Given the description of an element on the screen output the (x, y) to click on. 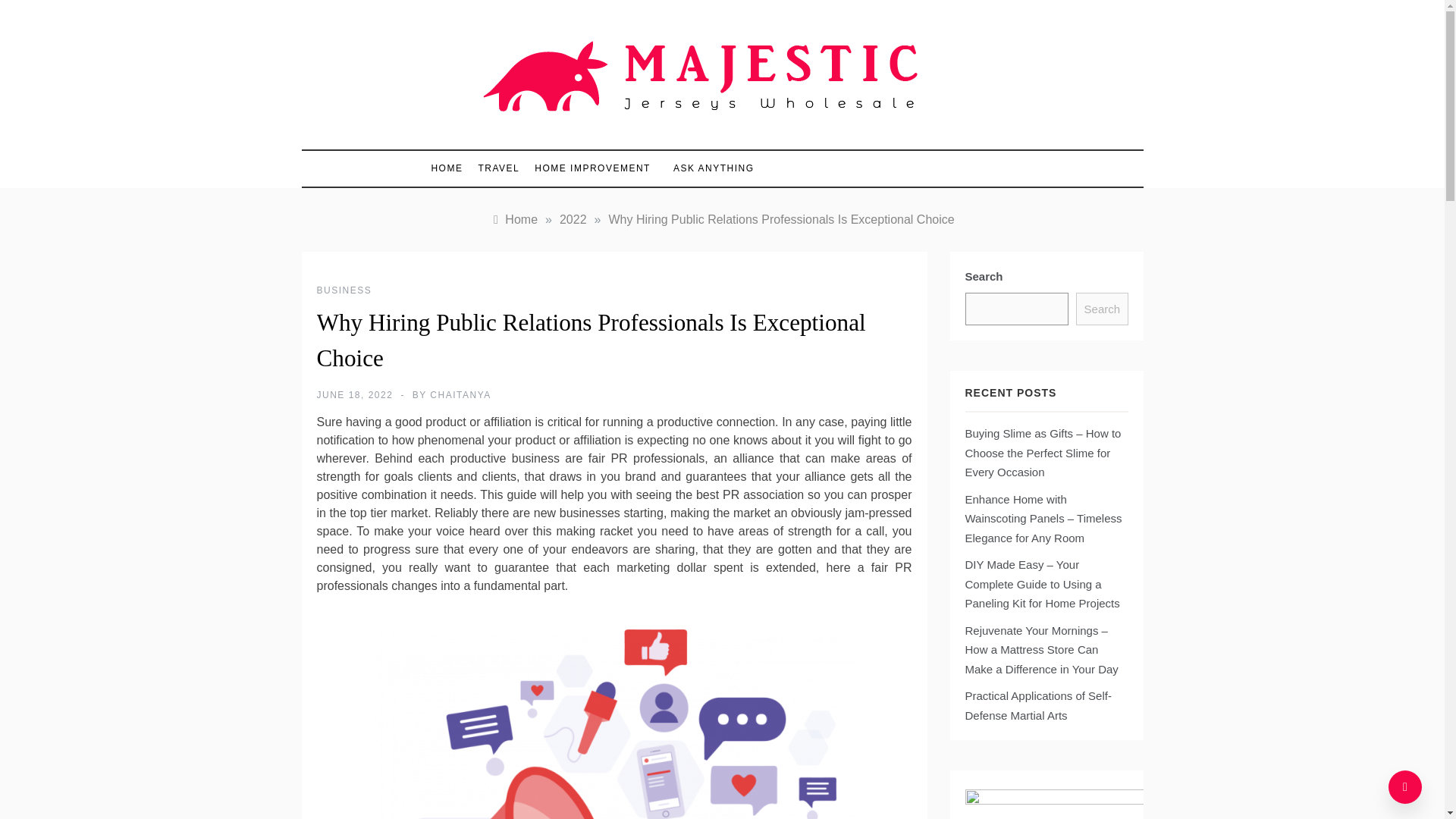
BUSINESS (344, 290)
2022 (572, 219)
HOME IMPROVEMENT (592, 168)
Majestic Jerseys Wholesale (658, 134)
Go to Top (1405, 786)
Practical Applications of Self-Defense Martial Arts (1036, 705)
Home (513, 219)
ASK ANYTHING (706, 168)
CHAITANYA (459, 394)
